Given the description of an element on the screen output the (x, y) to click on. 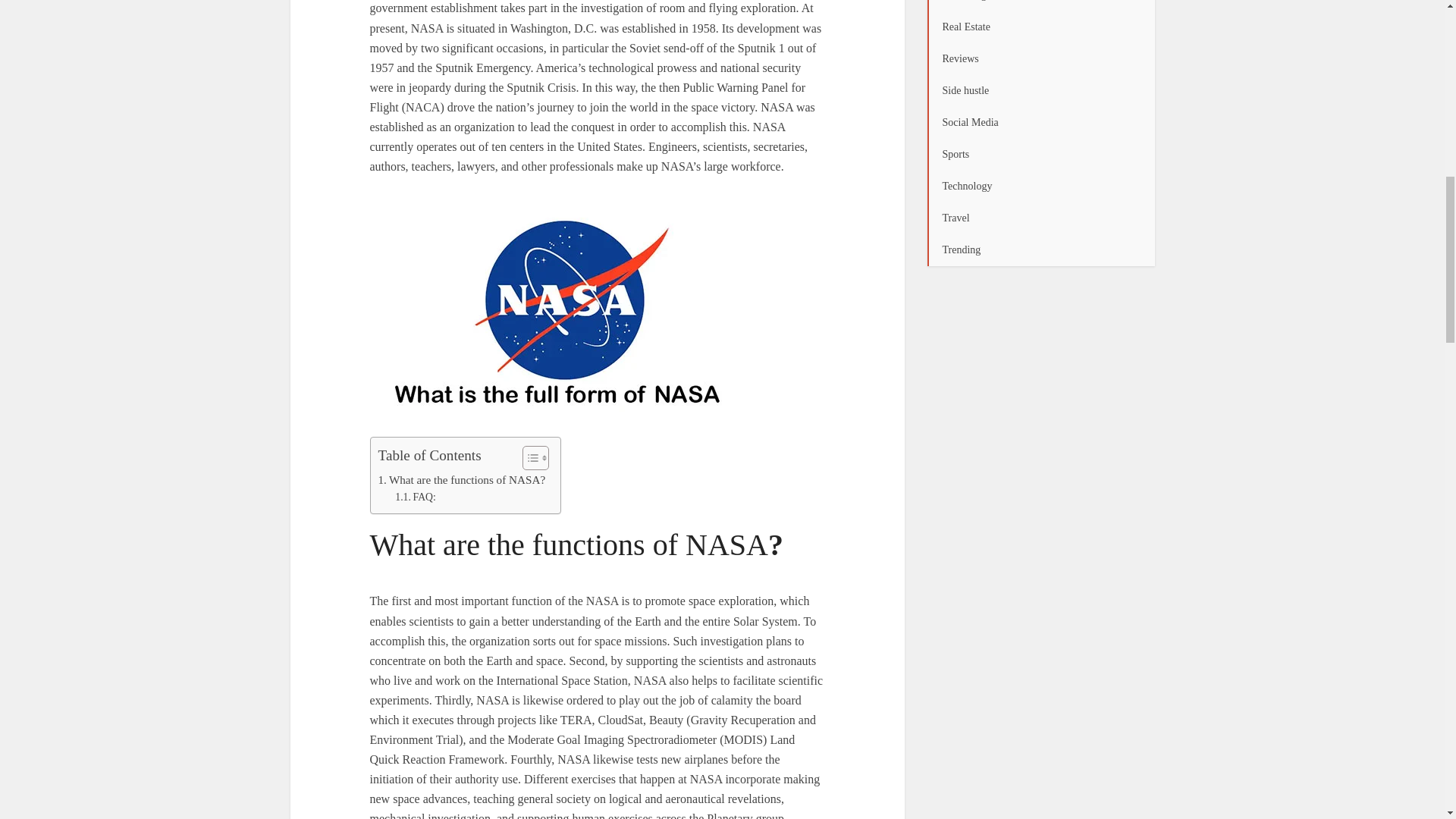
FAQ: (414, 497)
FAQ: (414, 497)
What are the functions of NASA? (460, 479)
What are the functions of NASA? (460, 479)
